Given the description of an element on the screen output the (x, y) to click on. 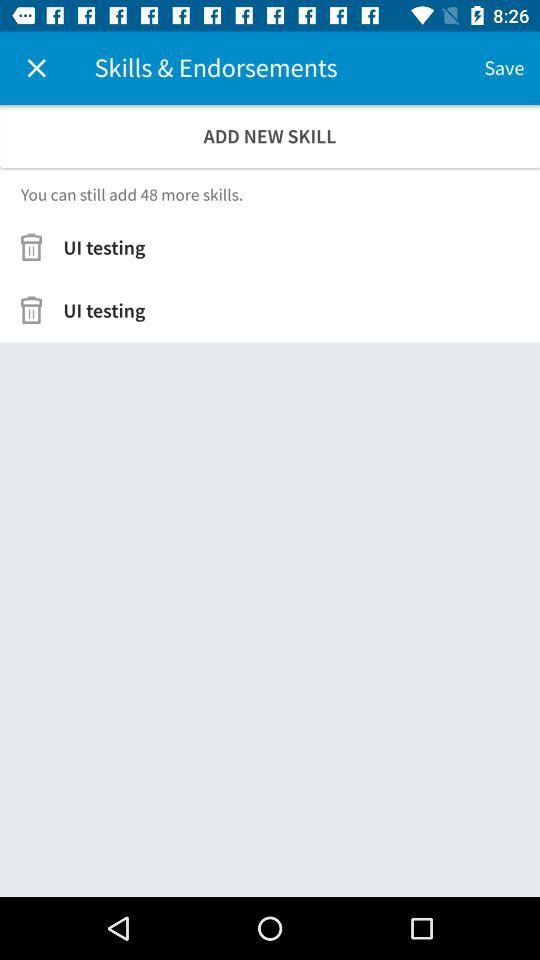
choose item above you can still icon (270, 136)
